Given the description of an element on the screen output the (x, y) to click on. 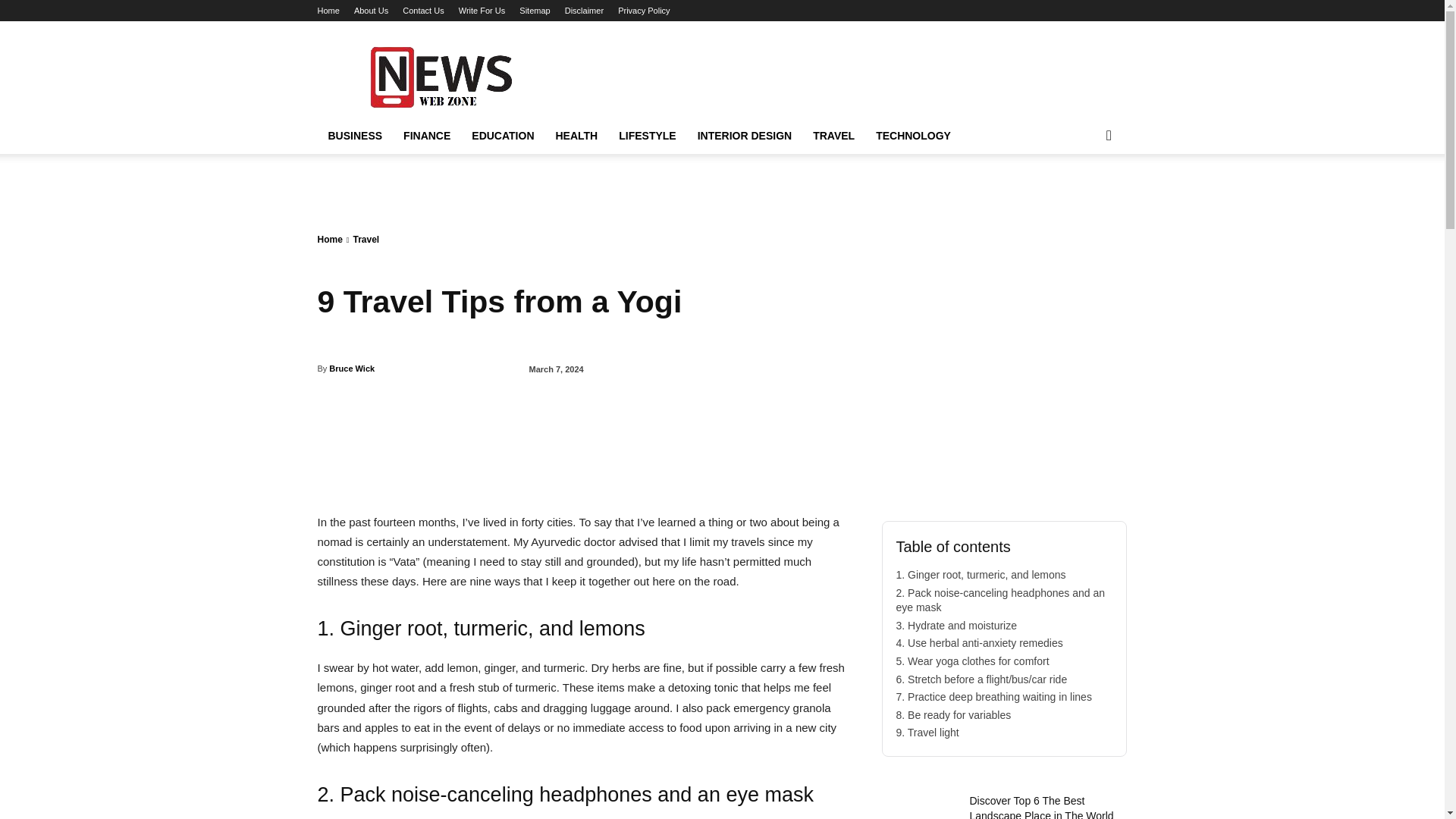
LIFESTYLE (646, 135)
HEALTH (576, 135)
FINANCE (427, 135)
Contact Us (423, 10)
EDUCATION (502, 135)
Discover Top 6 The Best Landscape Place in The World (918, 806)
Privacy Policy (643, 10)
BUSINESS (355, 135)
Home (328, 10)
View all posts in Travel (366, 239)
